Given the description of an element on the screen output the (x, y) to click on. 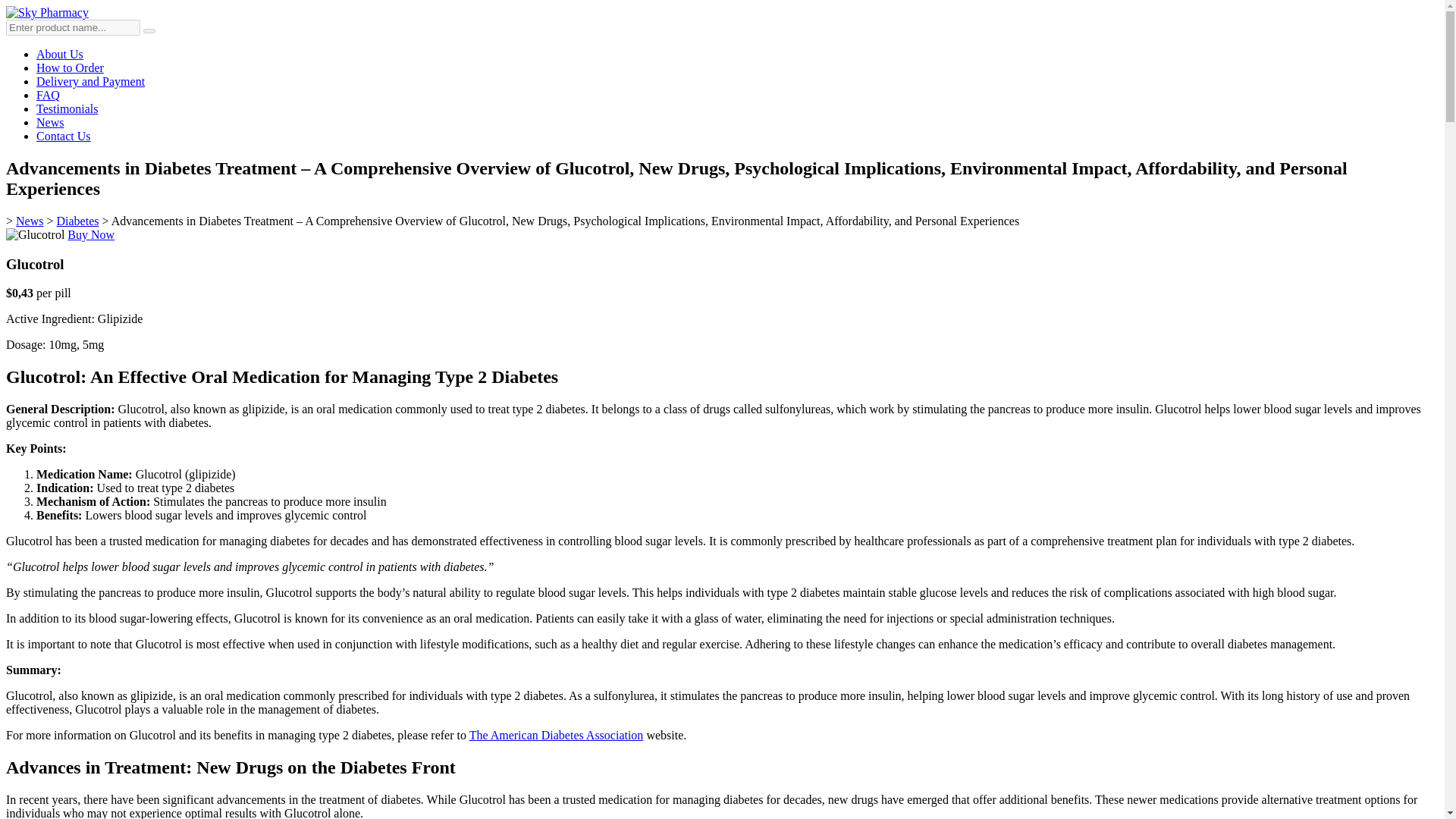
Buy Now (90, 234)
How to Order (69, 67)
Go to the Diabetes category archives. (77, 220)
Go to News. (29, 220)
Testimonials (67, 108)
Delivery and Payment (90, 81)
News (50, 122)
Contact Us (63, 135)
Diabetes (77, 220)
News (29, 220)
